Given the description of an element on the screen output the (x, y) to click on. 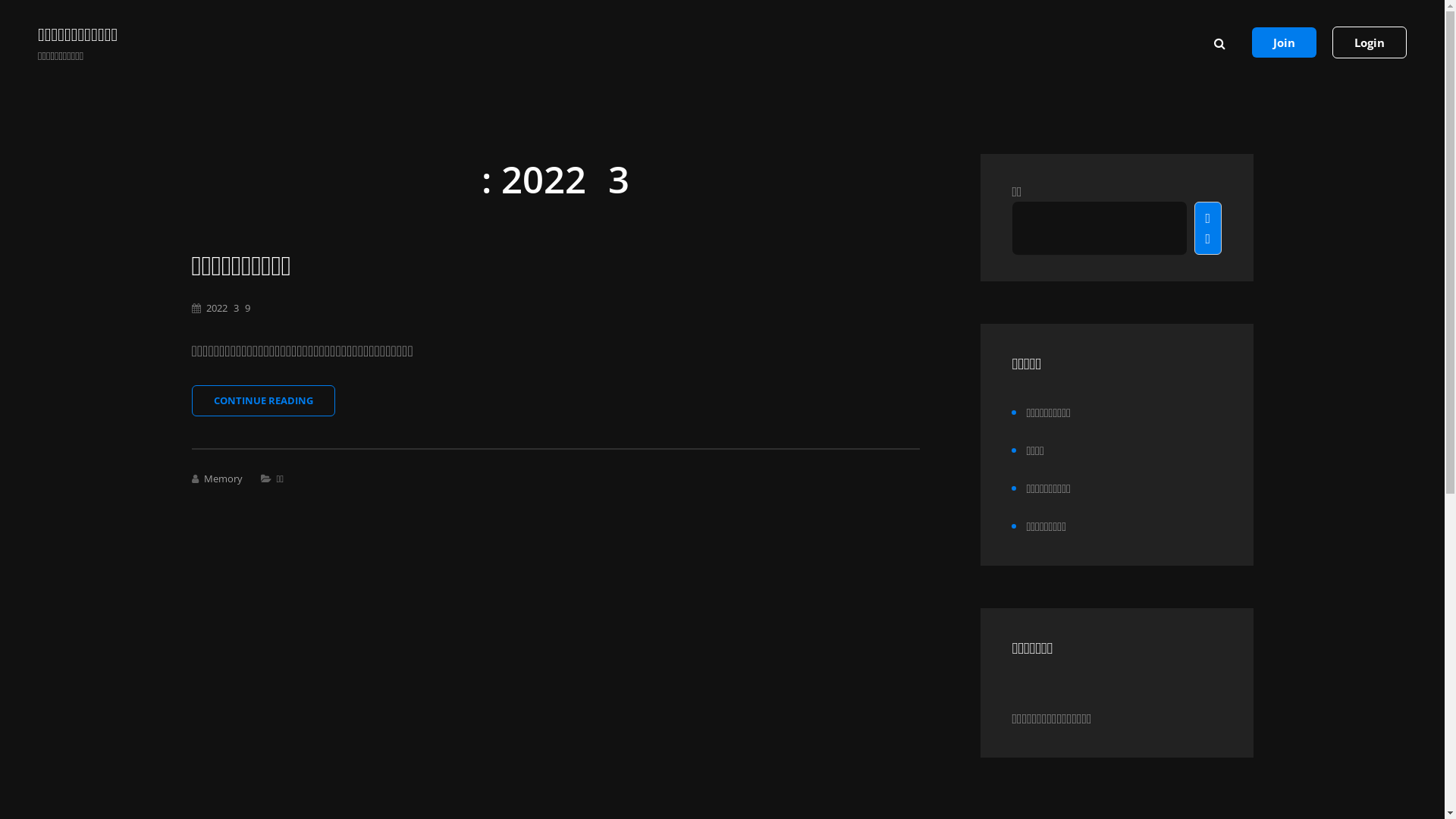
SEARCH Element type: text (1219, 42)
Login Element type: text (1369, 42)
Join Element type: text (1284, 42)
Memory Element type: text (222, 478)
